Given the description of an element on the screen output the (x, y) to click on. 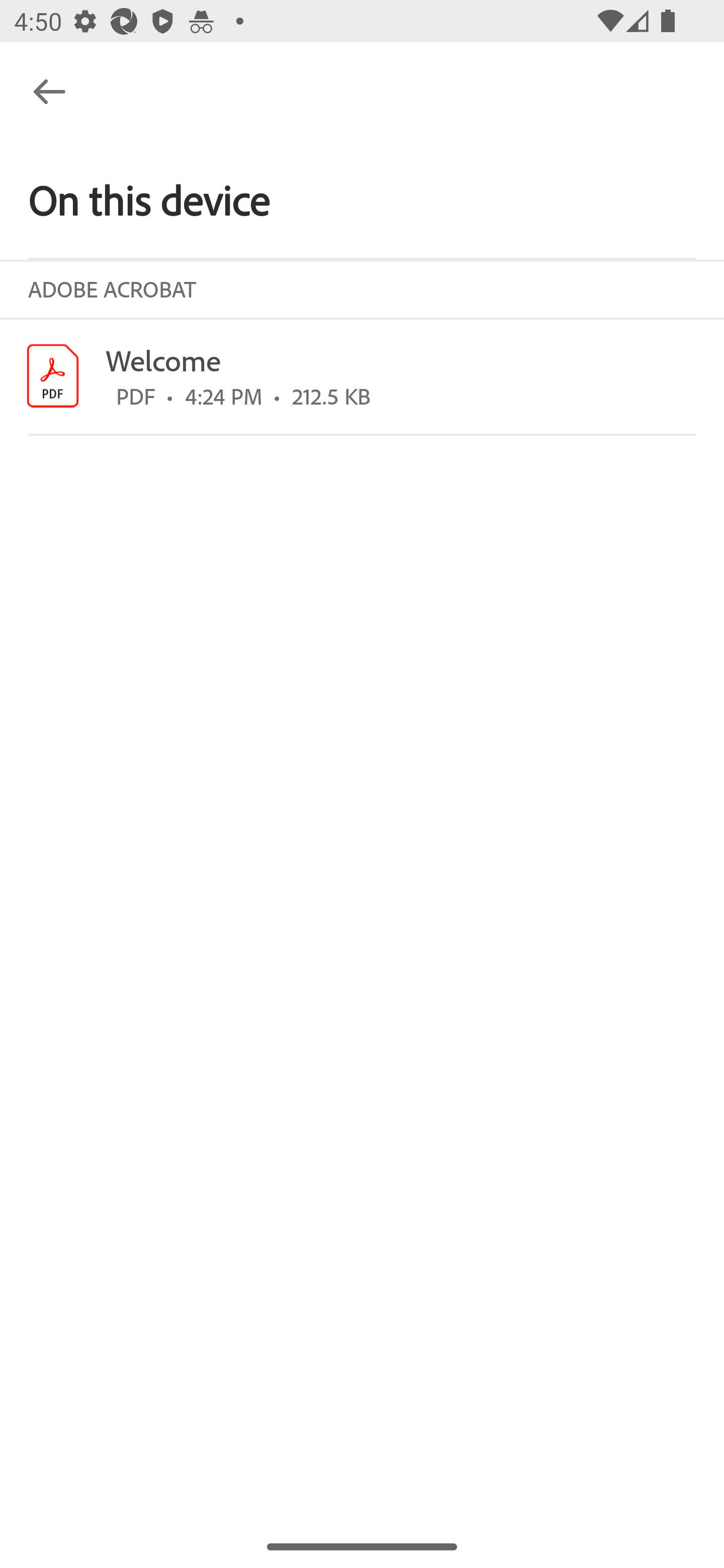
Navigate up (49, 91)
Welcome.pdf Welcome PDF •  4:24 PM •  212.5 KB (362, 376)
